Given the description of an element on the screen output the (x, y) to click on. 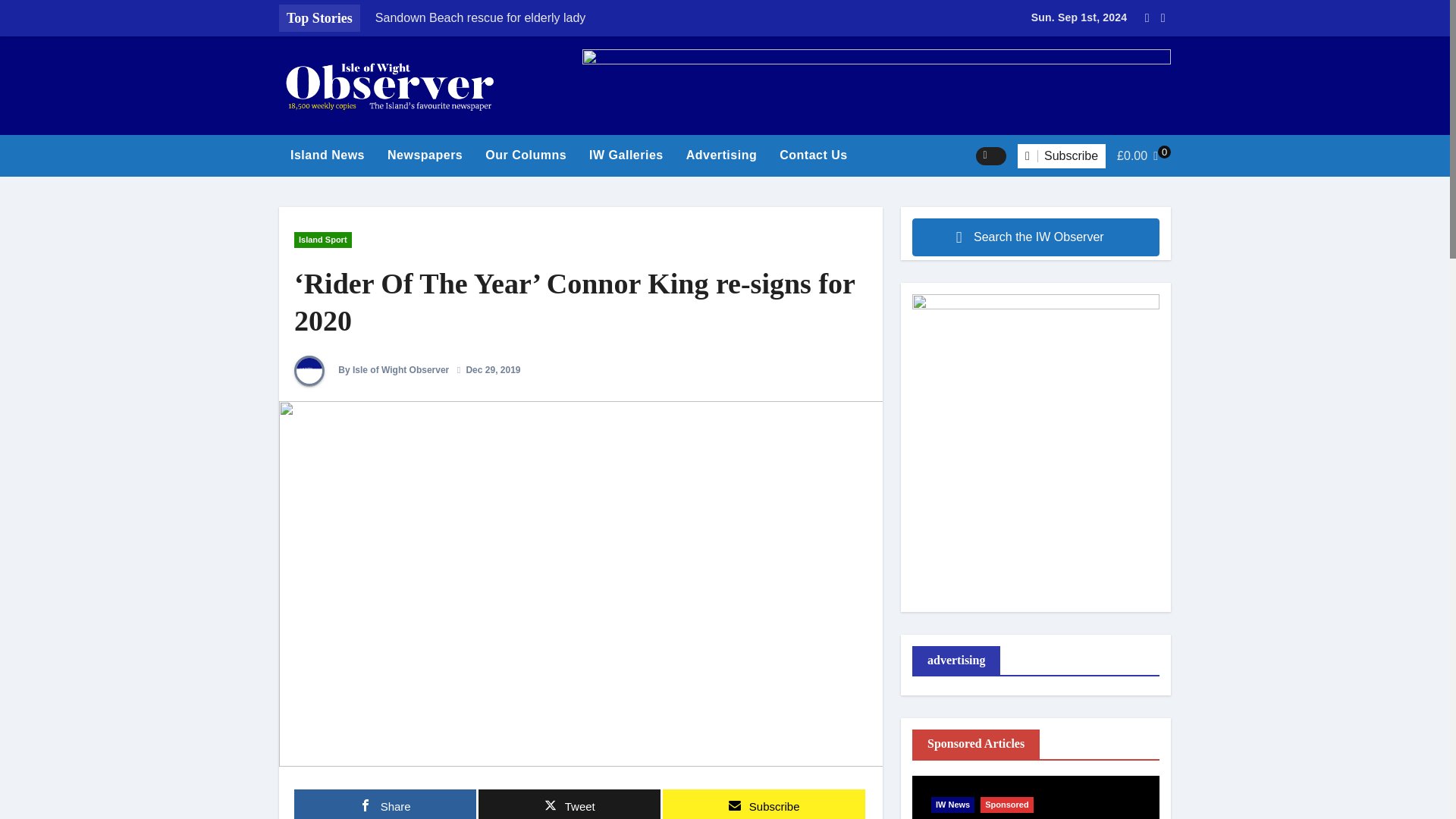
Island News (327, 155)
Our Columns (526, 155)
Newspapers (424, 155)
